Given the description of an element on the screen output the (x, y) to click on. 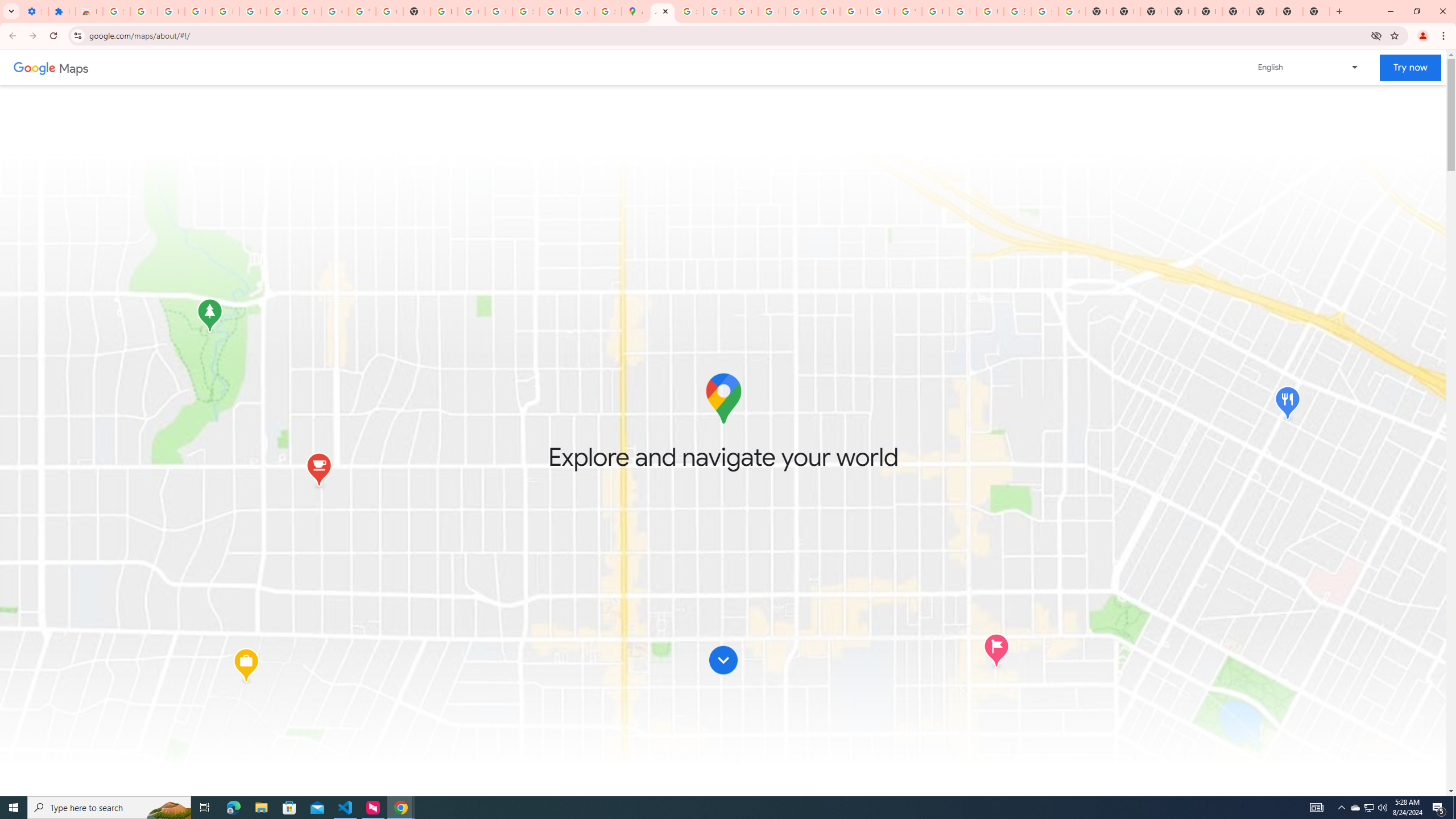
Reviews: Helix Fruit Jump Arcade Game (88, 11)
Settings - On startup (34, 11)
Learn how to find your photos - Google Photos Help (225, 11)
Sign in - Google Accounts (116, 11)
Google Images (1071, 11)
Delete photos & videos - Computer - Google Photos Help (197, 11)
Google Account (334, 11)
